Given the description of an element on the screen output the (x, y) to click on. 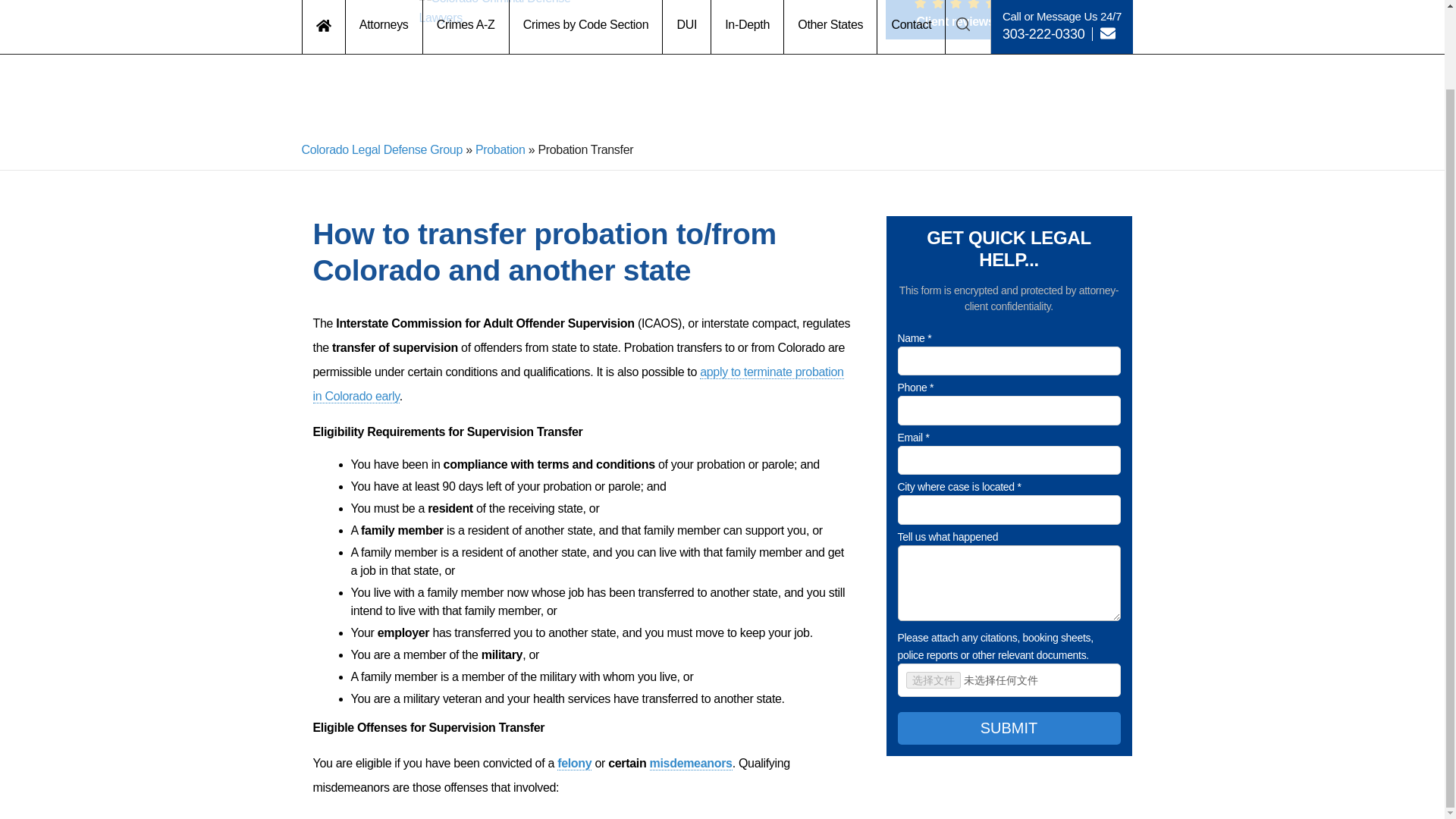
Client reviews (955, 19)
Colorado Legal Defense Group (382, 149)
misdemeanors (690, 763)
Probation (500, 149)
felony (574, 763)
Colorado Legal Defense Group (382, 149)
Probation (500, 149)
Submit (716, 461)
apply to terminate probation in Colorado early (578, 384)
Submit (1009, 727)
